Given the description of an element on the screen output the (x, y) to click on. 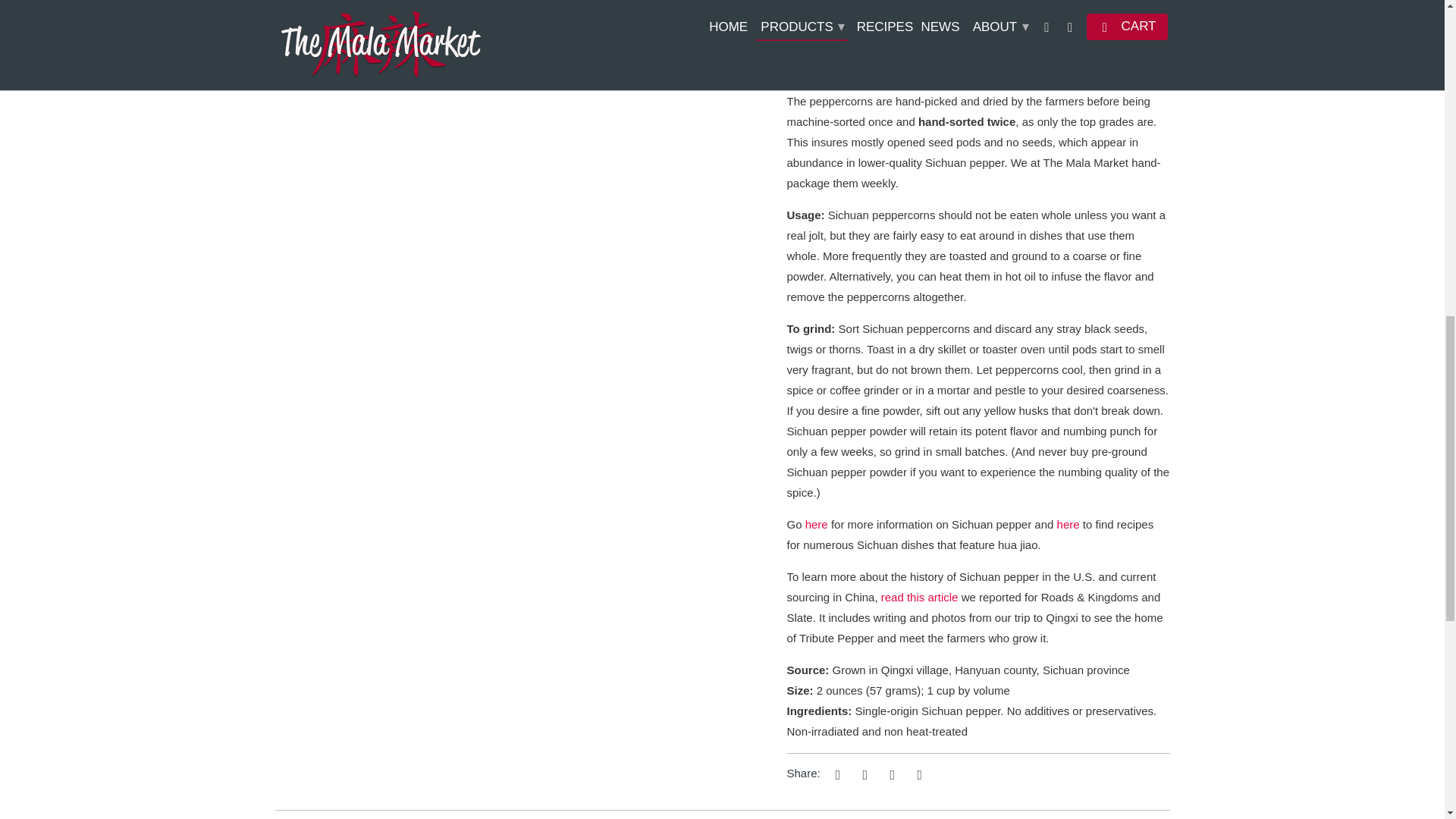
Email this to a friend (917, 774)
Share this on Facebook (862, 774)
Sichuan pepper (816, 523)
Share this on Twitter (835, 774)
Share this on Pinterest (889, 774)
